Given the description of an element on the screen output the (x, y) to click on. 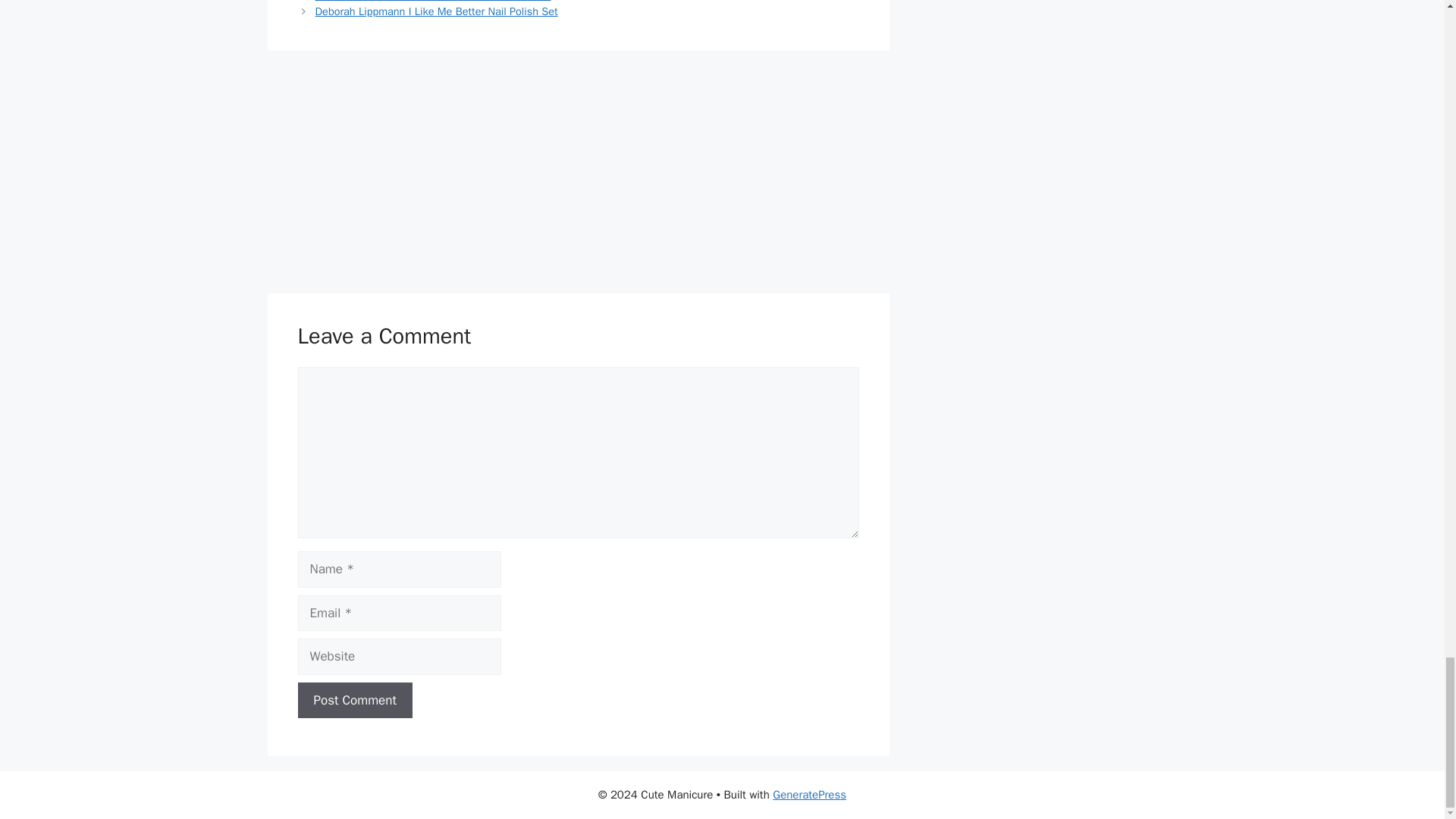
Deborah Lippmann I Like Me Better Nail Polish Set (436, 11)
Post Comment (354, 700)
Post Comment (354, 700)
GeneratePress (809, 794)
